Given the description of an element on the screen output the (x, y) to click on. 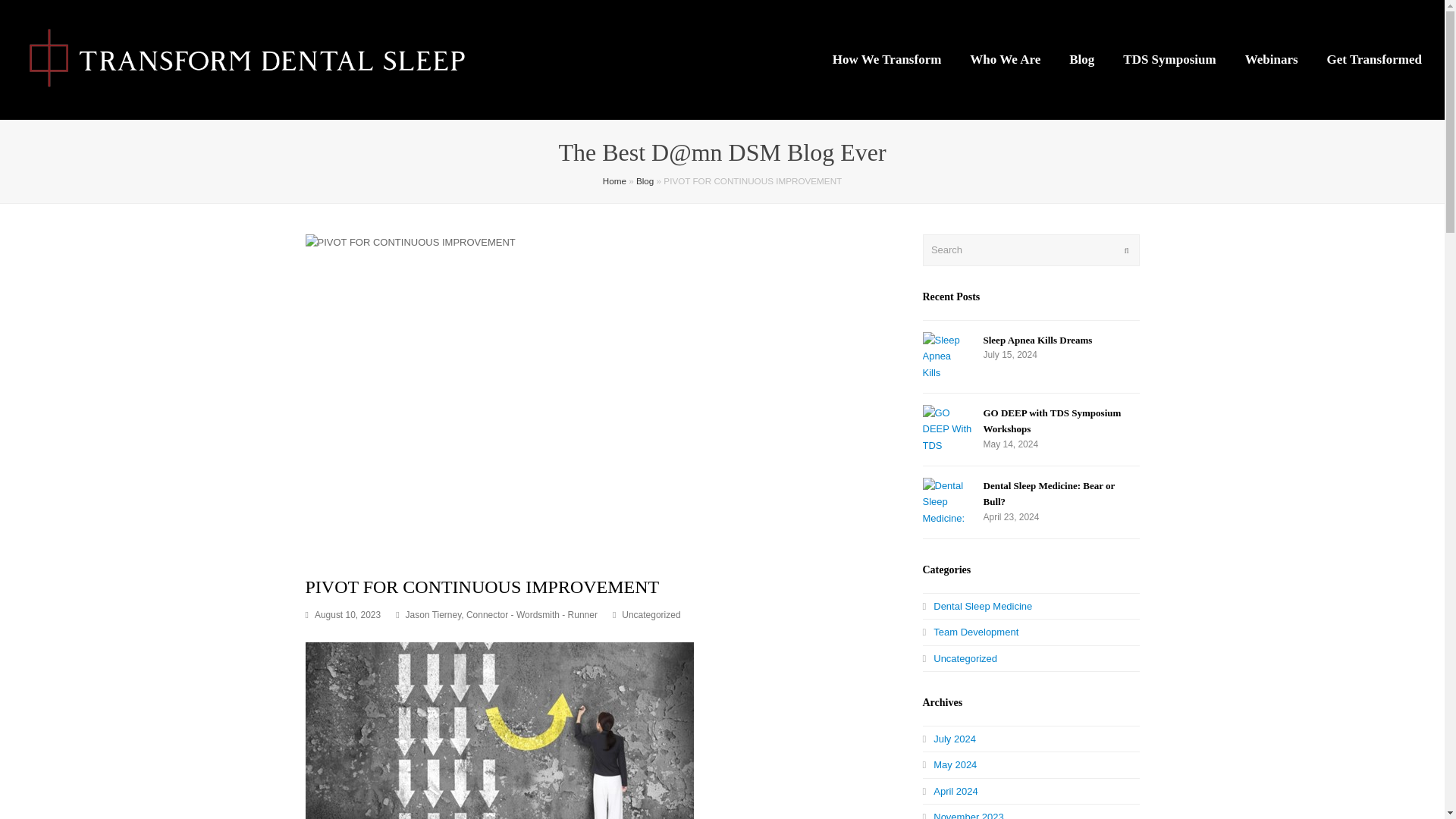
Jason Tierney, Connector - Wordsmith - Runner (501, 614)
Webinars (1270, 59)
TDS Symposium (1169, 59)
Sleep Apnea Kills Dreams (946, 356)
Sleep Apnea Kills Dreams (1037, 339)
Posts by Jason Tierney, Connector - Wordsmith - Runner (501, 614)
Transform Dental Sleep (250, 58)
Blog (644, 180)
Get Transformed (1374, 59)
Uncategorized (650, 614)
